Given the description of an element on the screen output the (x, y) to click on. 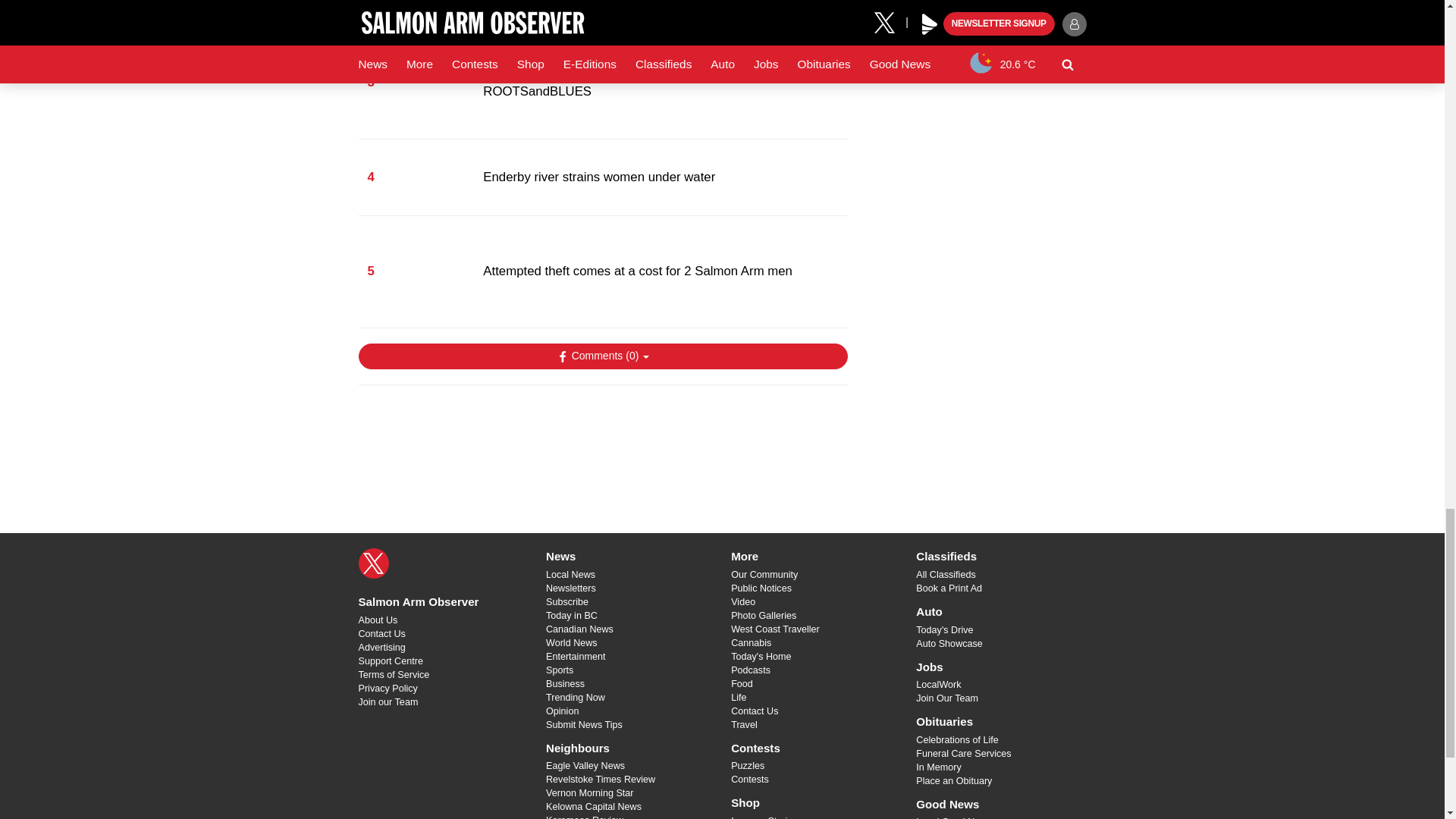
X (373, 562)
Show Comments (602, 356)
